Given the description of an element on the screen output the (x, y) to click on. 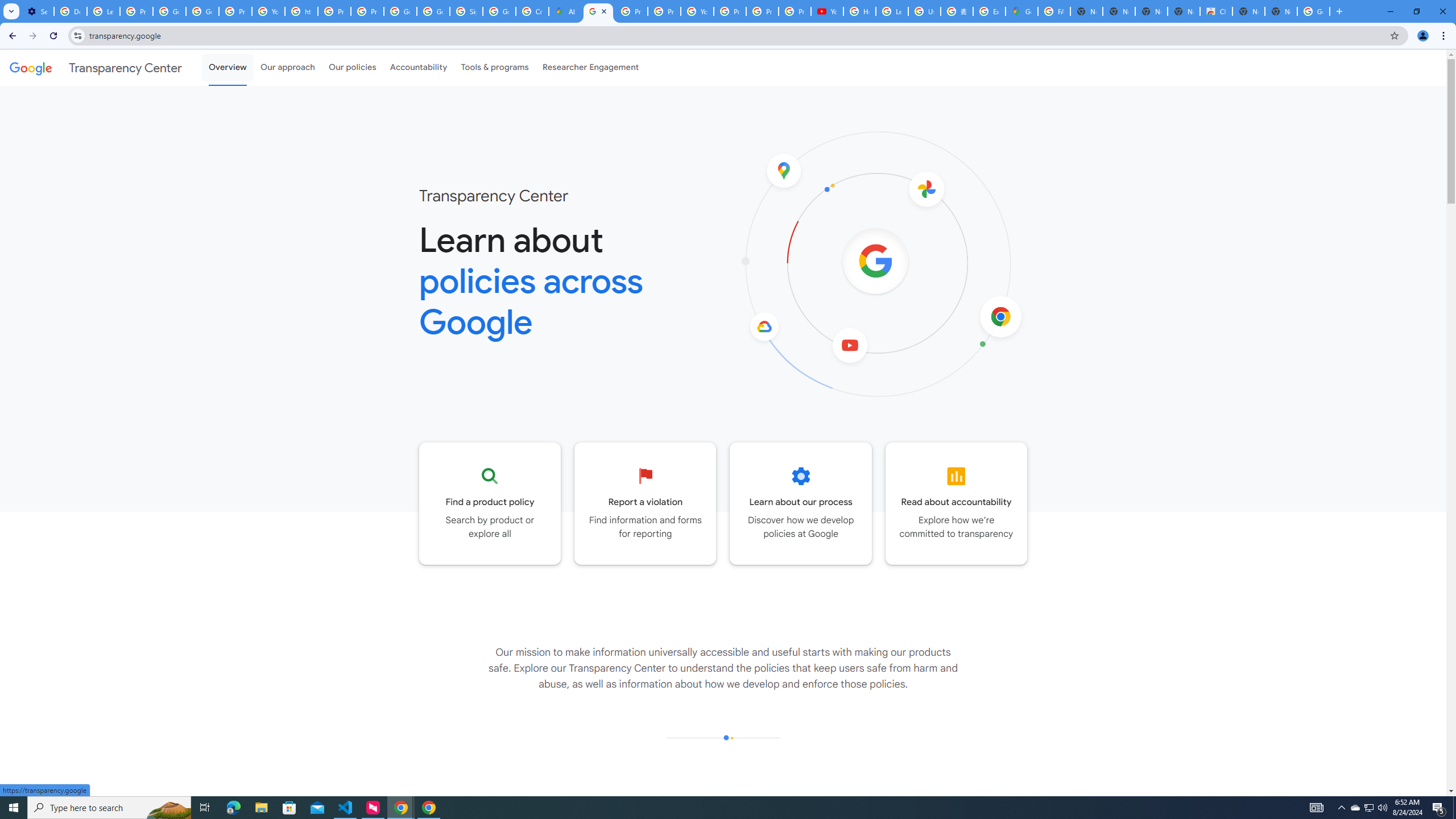
YouTube (268, 11)
